Given the description of an element on the screen output the (x, y) to click on. 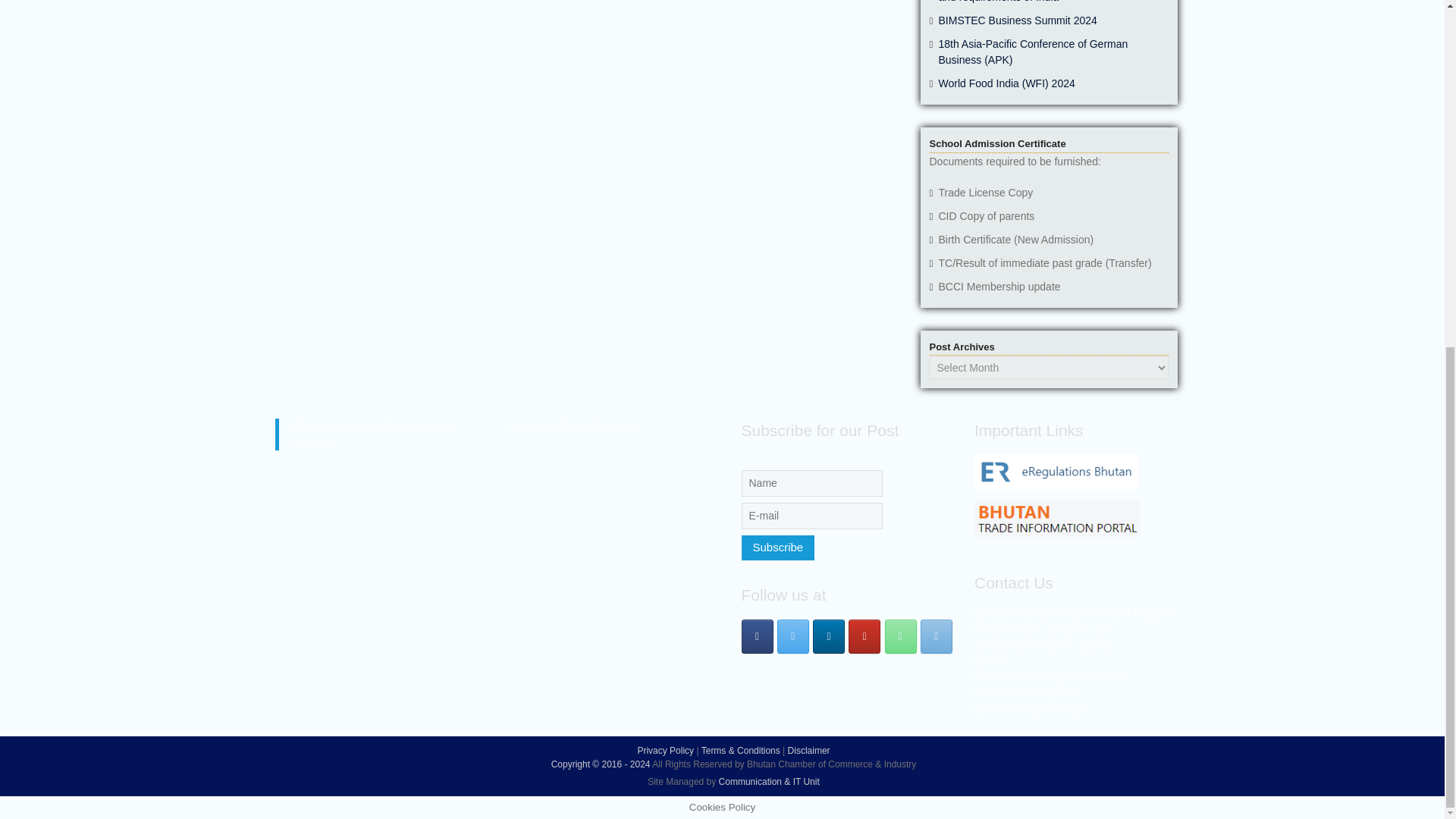
Email us (936, 636)
Youtube Coming soon (864, 636)
Contact No. (901, 636)
Subscribe (778, 547)
Official Twitter Page (793, 636)
Official Facebook Page (757, 636)
Follow us in LinkedIn (828, 636)
